Given the description of an element on the screen output the (x, y) to click on. 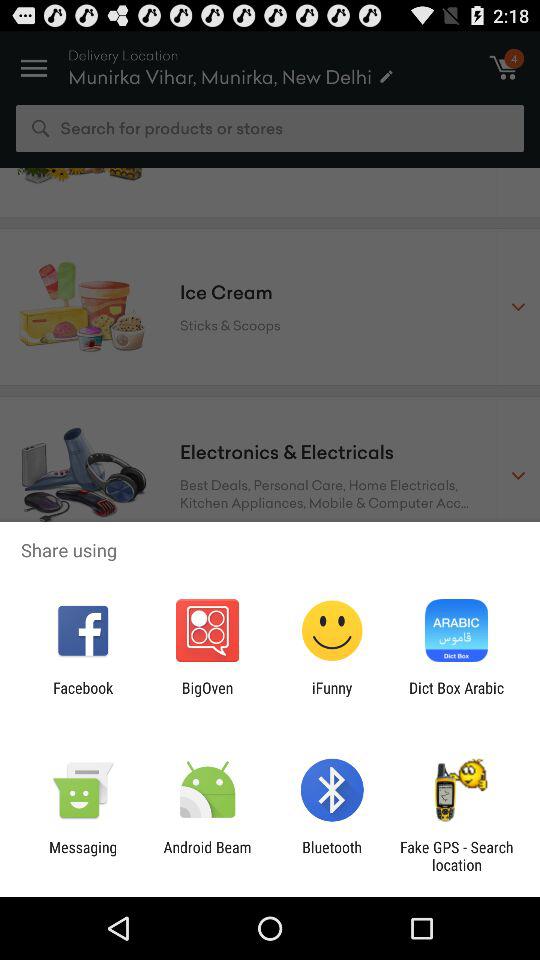
open the bluetooth item (331, 856)
